Given the description of an element on the screen output the (x, y) to click on. 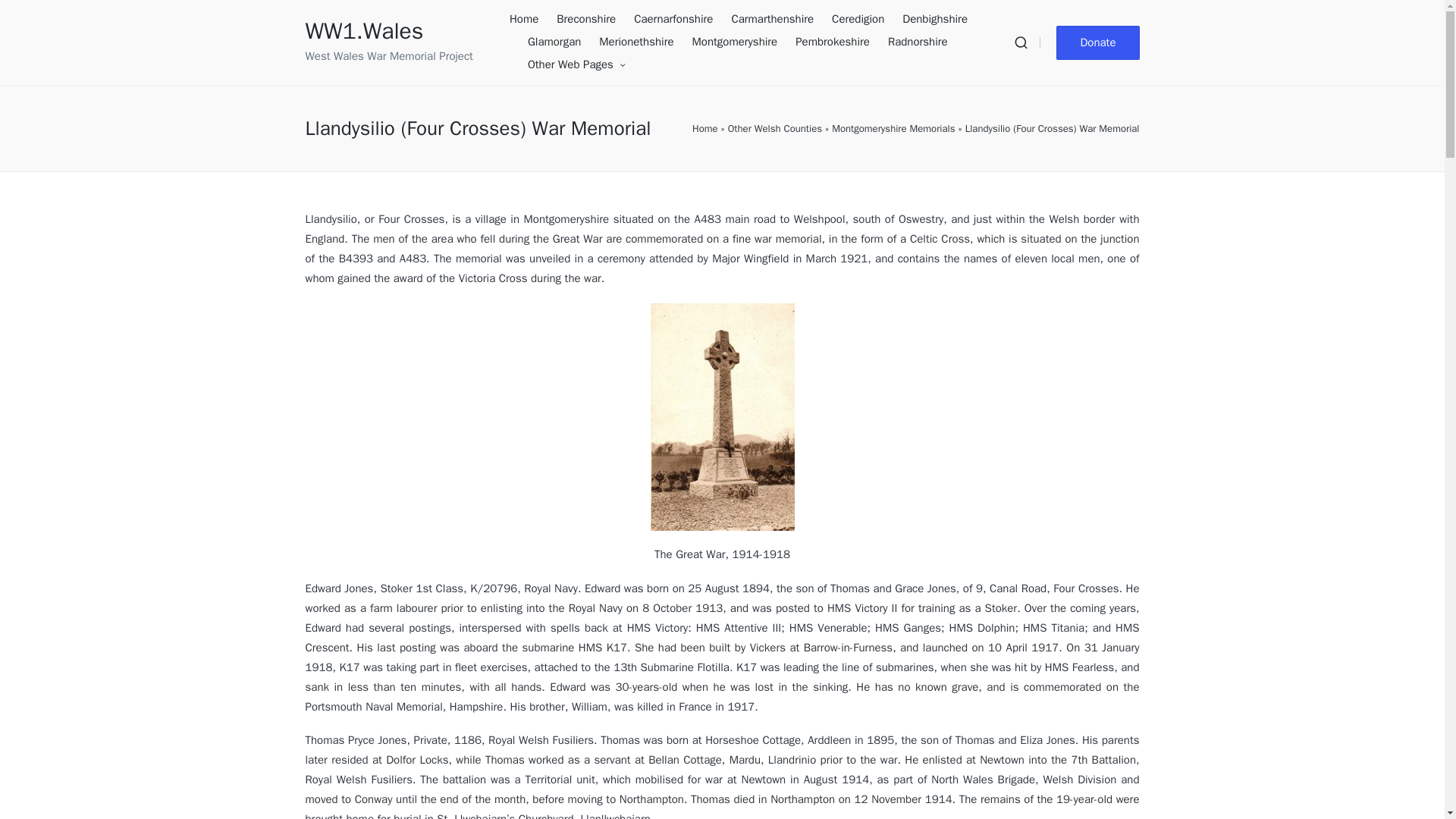
Other Web Pages (576, 65)
WW1.Wales (387, 31)
Montgomeryshire Memorials (893, 129)
Home (523, 19)
Carmarthenshire (771, 19)
Denbighshire (935, 19)
Breconshire (585, 19)
Home (705, 129)
Caernarfonshire (673, 19)
Donate (1097, 42)
Glamorgan (553, 42)
Montgomeryshire (735, 42)
Radnorshire (917, 42)
Pembrokeshire (831, 42)
Ceredigion (857, 19)
